Given the description of an element on the screen output the (x, y) to click on. 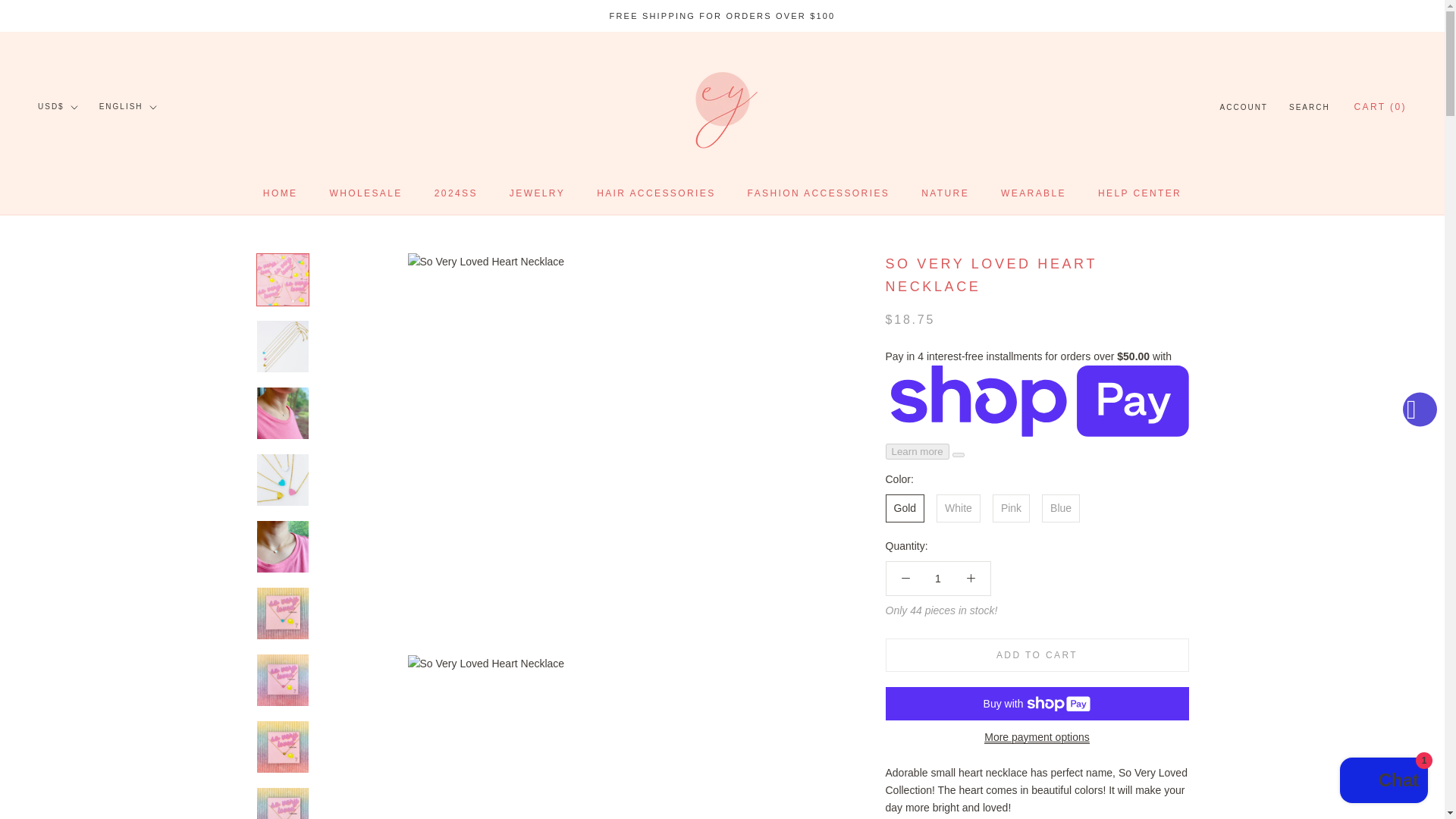
1 (938, 578)
Shopify online store chat (1383, 781)
